Given the description of an element on the screen output the (x, y) to click on. 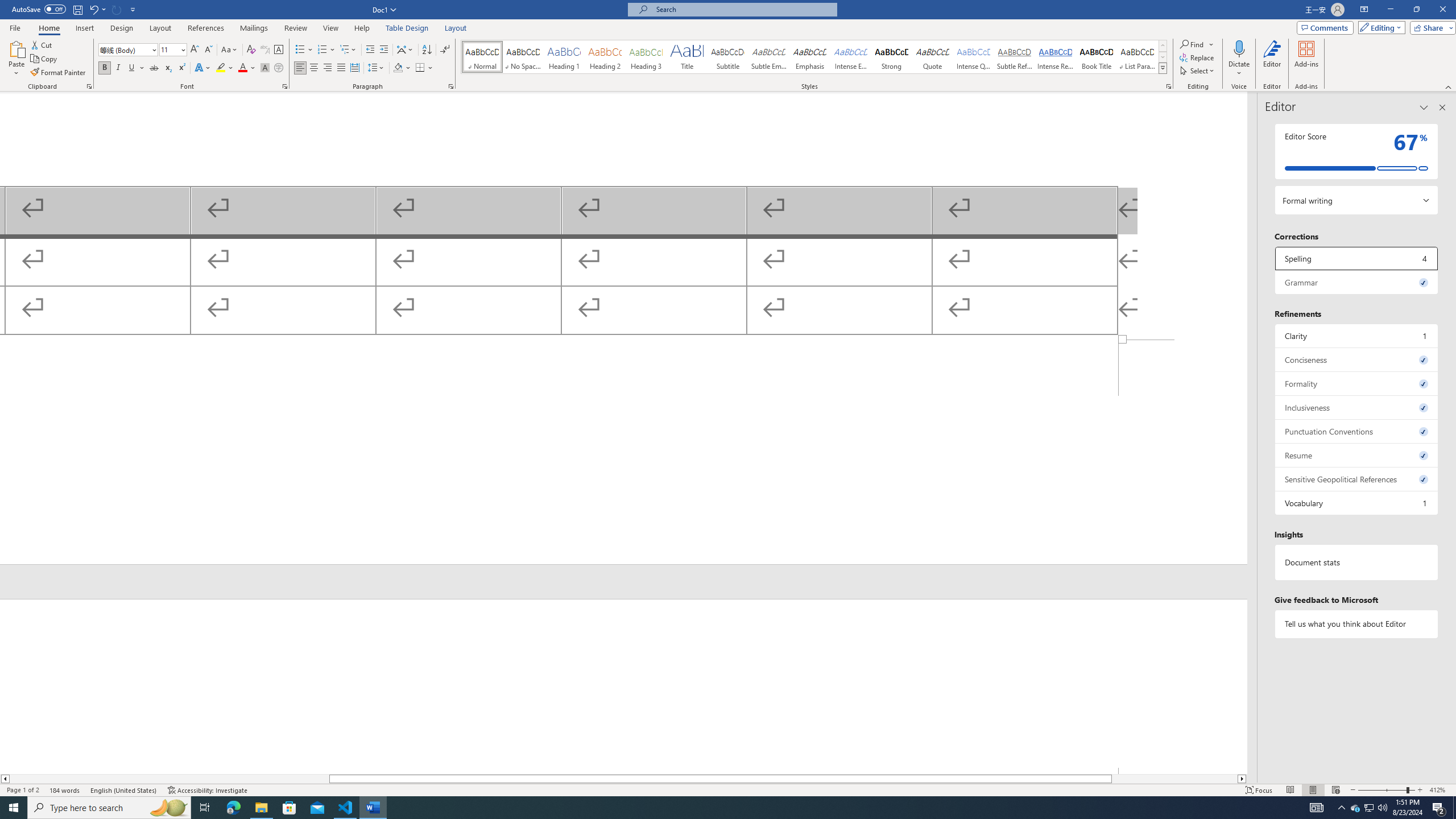
AutomationID: QuickStylesGallery (814, 56)
Character Shading (264, 67)
Strikethrough (154, 67)
Paragraph... (450, 85)
Shading RGB(0, 0, 0) (397, 67)
Page left (169, 778)
Heading 1 (564, 56)
Distributed (354, 67)
Intense Reference (1055, 56)
